Given the description of an element on the screen output the (x, y) to click on. 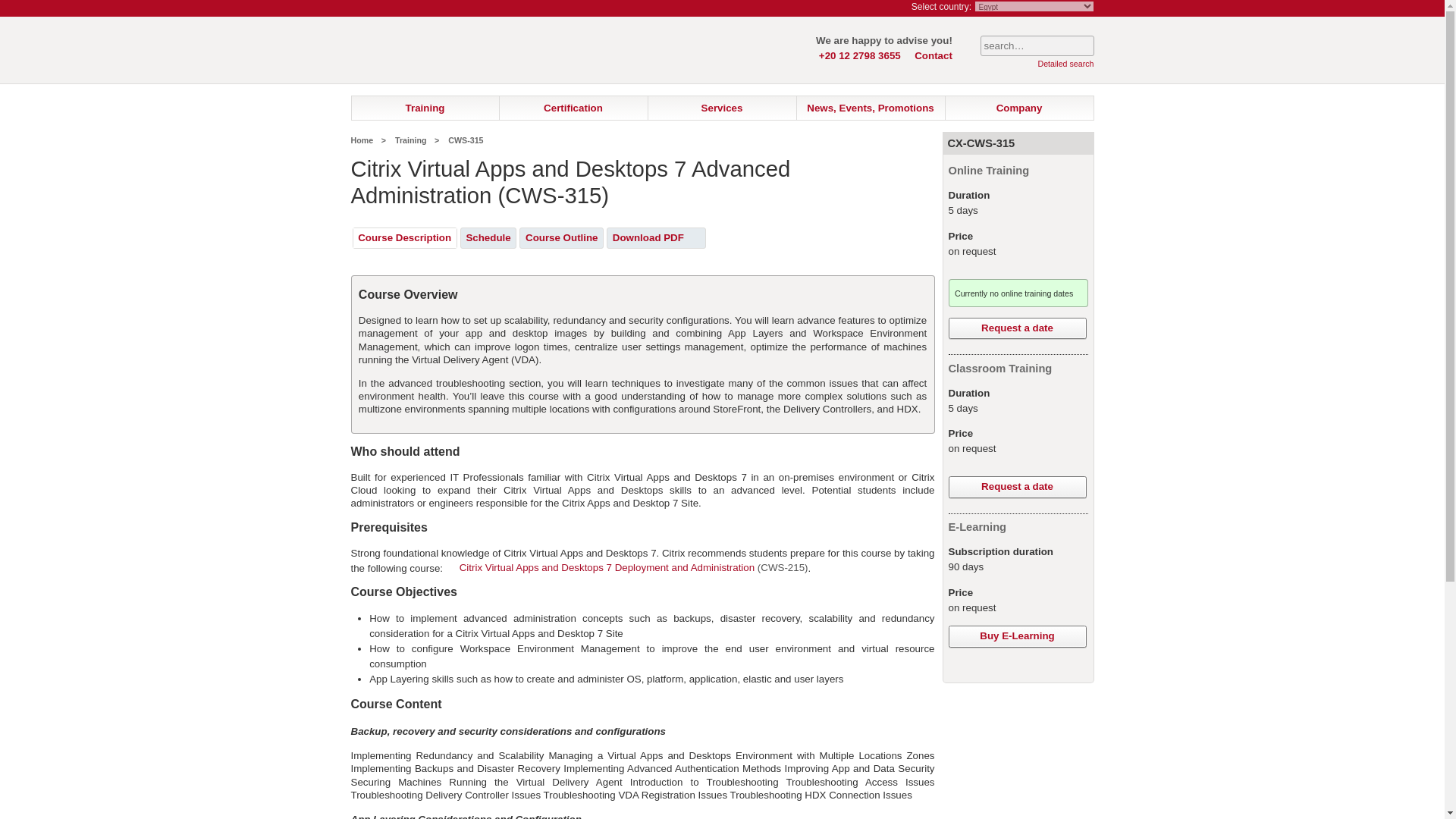
Use double quotes to search for exact phrases (1036, 46)
Contact (933, 55)
Go to bookings page (886, 7)
Select country: (941, 6)
Training (425, 107)
Fast Lane Homepage (440, 61)
Detailed search (1064, 62)
